Given the description of an element on the screen output the (x, y) to click on. 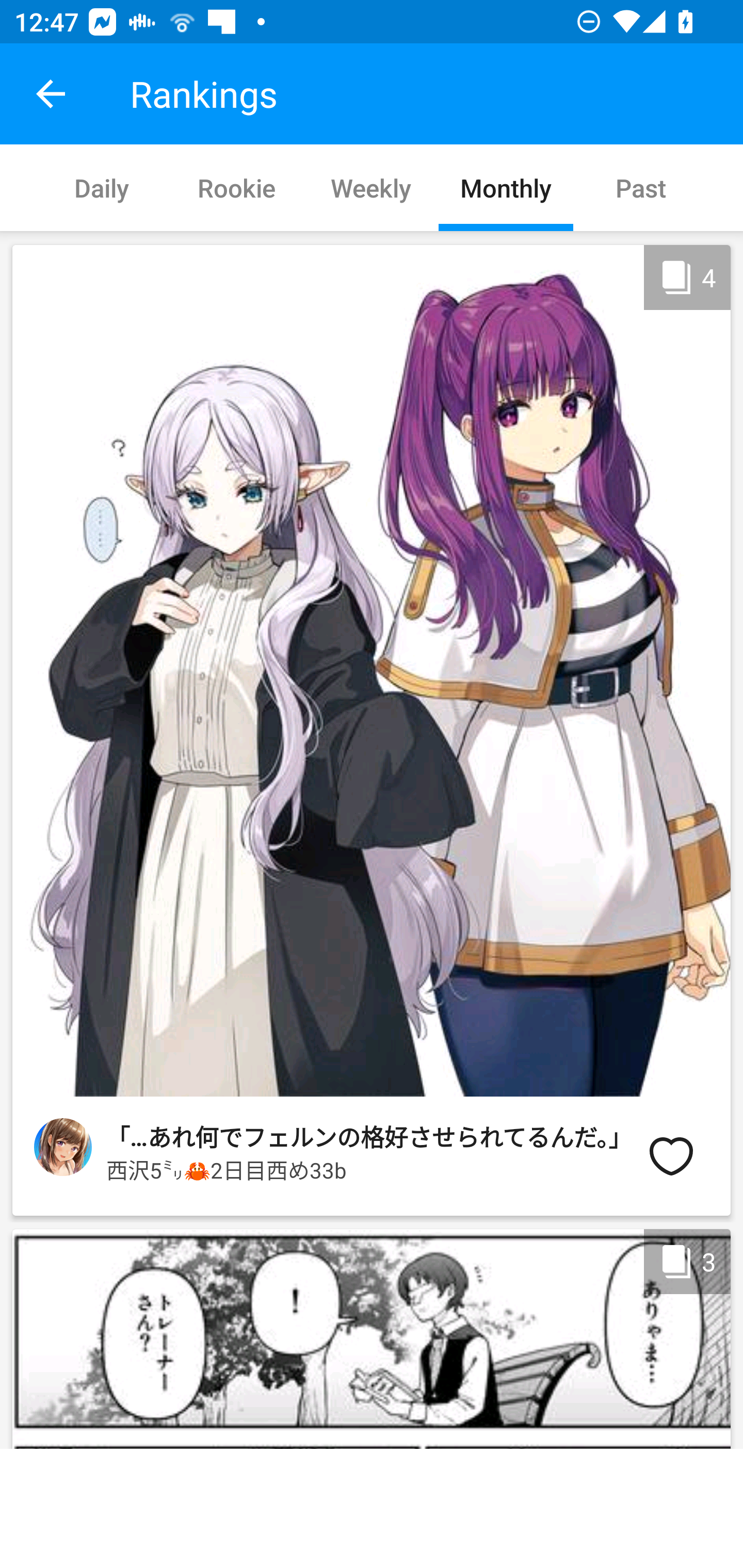
Navigate up (50, 93)
Daily (101, 187)
Rookie (236, 187)
Weekly (370, 187)
Past (640, 187)
3 (371, 1335)
